Given the description of an element on the screen output the (x, y) to click on. 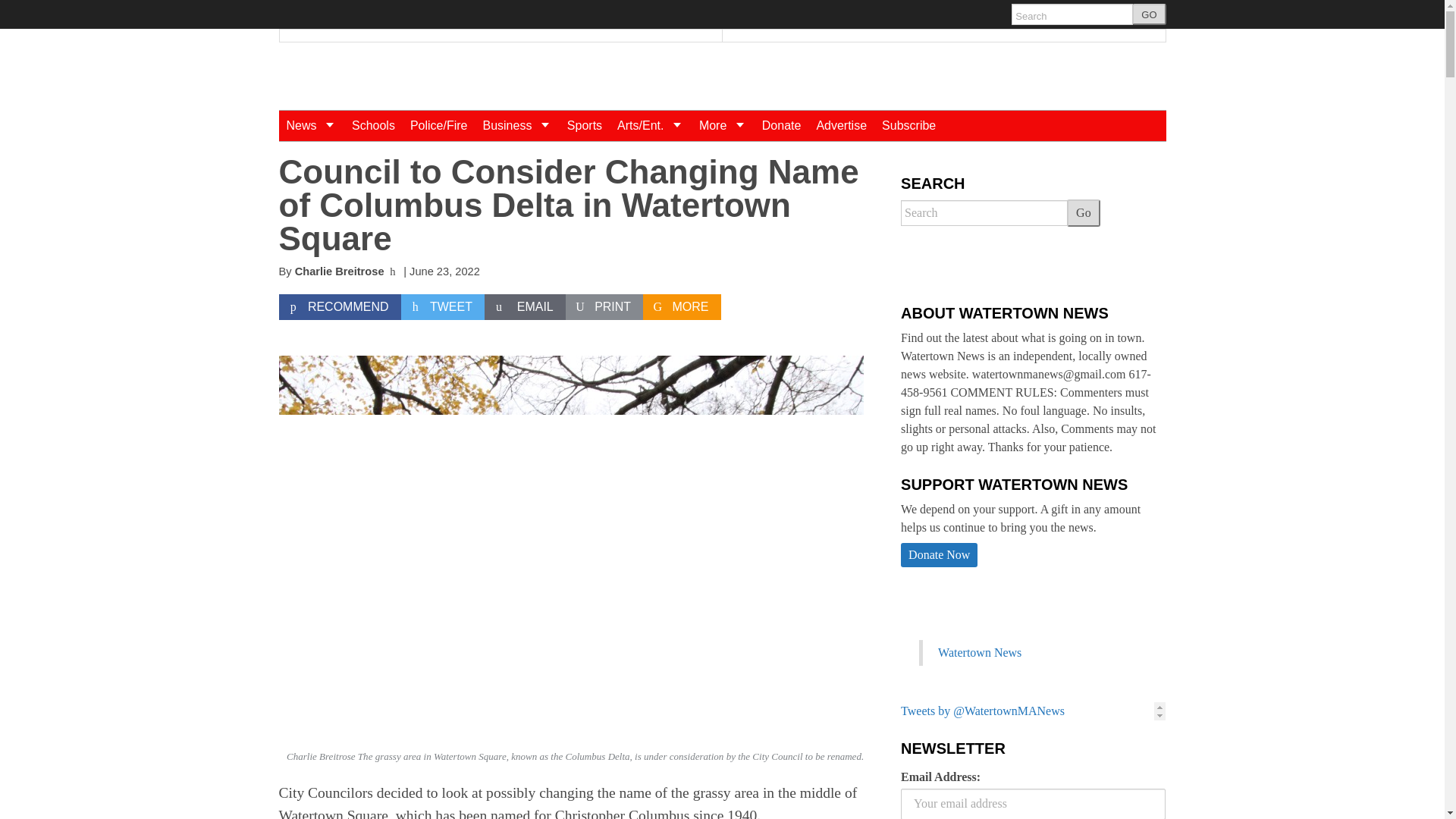
Business (516, 125)
News (311, 125)
GO (1149, 14)
Print this article (604, 307)
Sports (584, 125)
Schools (373, 125)
Read All Posts By Charlie Breitrose (339, 271)
